Given the description of an element on the screen output the (x, y) to click on. 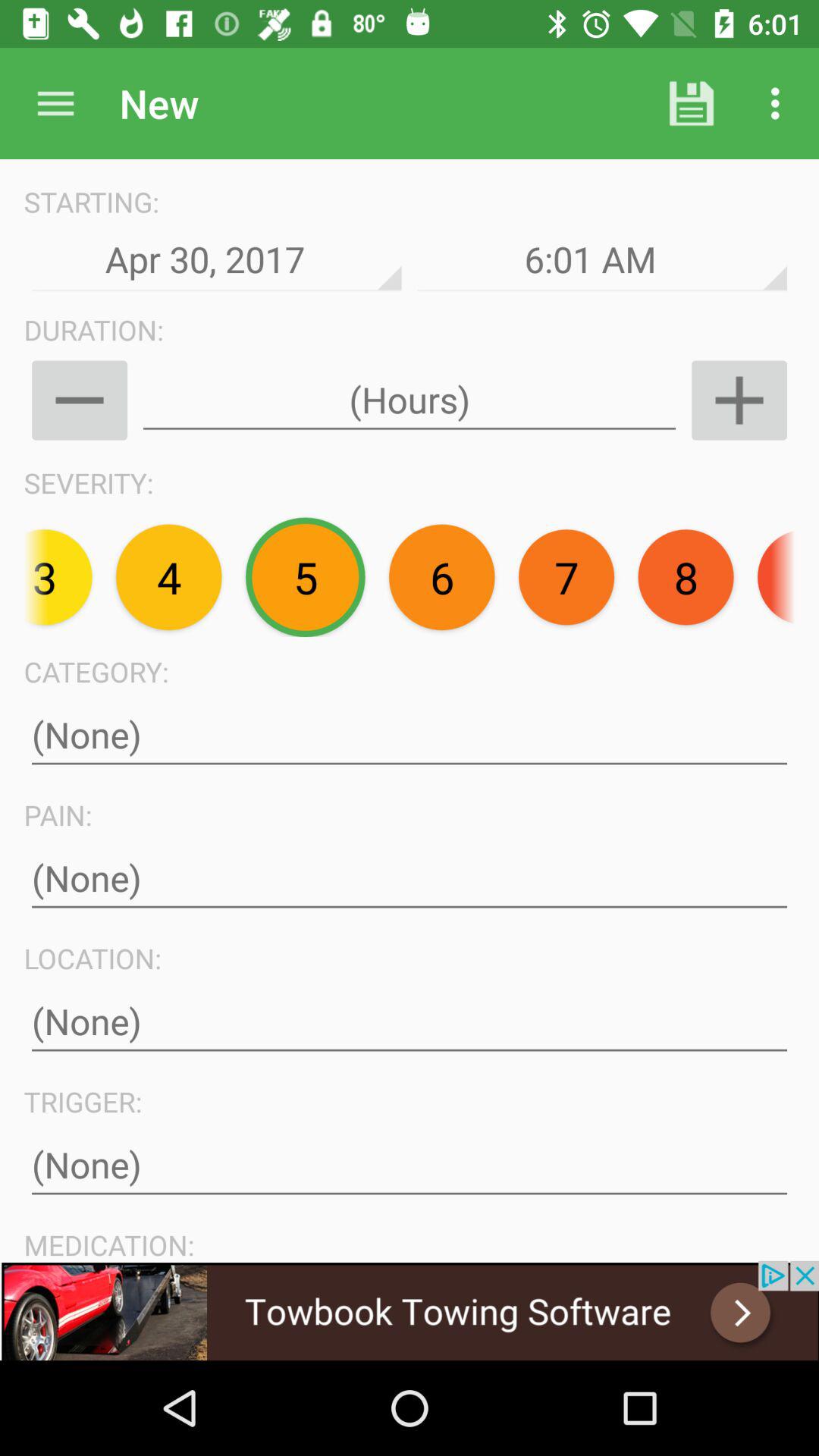
type text (409, 1165)
